Given the description of an element on the screen output the (x, y) to click on. 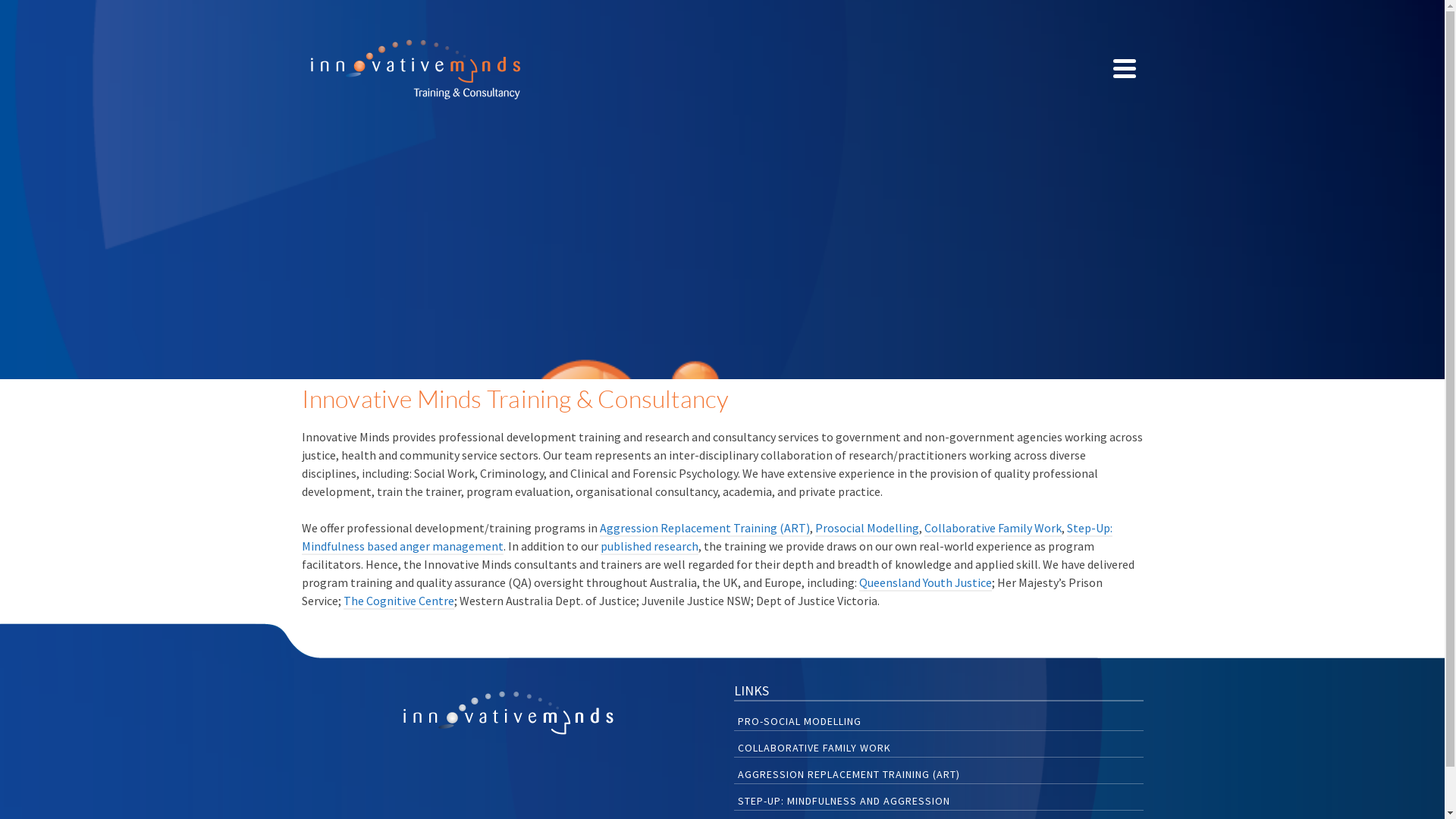
Queensland Youth Justice Element type: text (924, 582)
Aggression Replacement Training (ART) Element type: text (704, 528)
STEP-UP: MINDFULNESS AND AGGRESSION Element type: text (938, 798)
Prosocial Modelling Element type: text (866, 528)
PRO-SOCIAL MODELLING Element type: text (938, 719)
published research Element type: text (649, 546)
Step-Up: Mindfulness based anger management Element type: text (706, 537)
Collaborative Family Work Element type: text (991, 528)
COLLABORATIVE FAMILY WORK Element type: text (938, 745)
AGGRESSION REPLACEMENT TRAINING (ART) Element type: text (938, 772)
The Cognitive Centre Element type: text (397, 601)
